Given the description of an element on the screen output the (x, y) to click on. 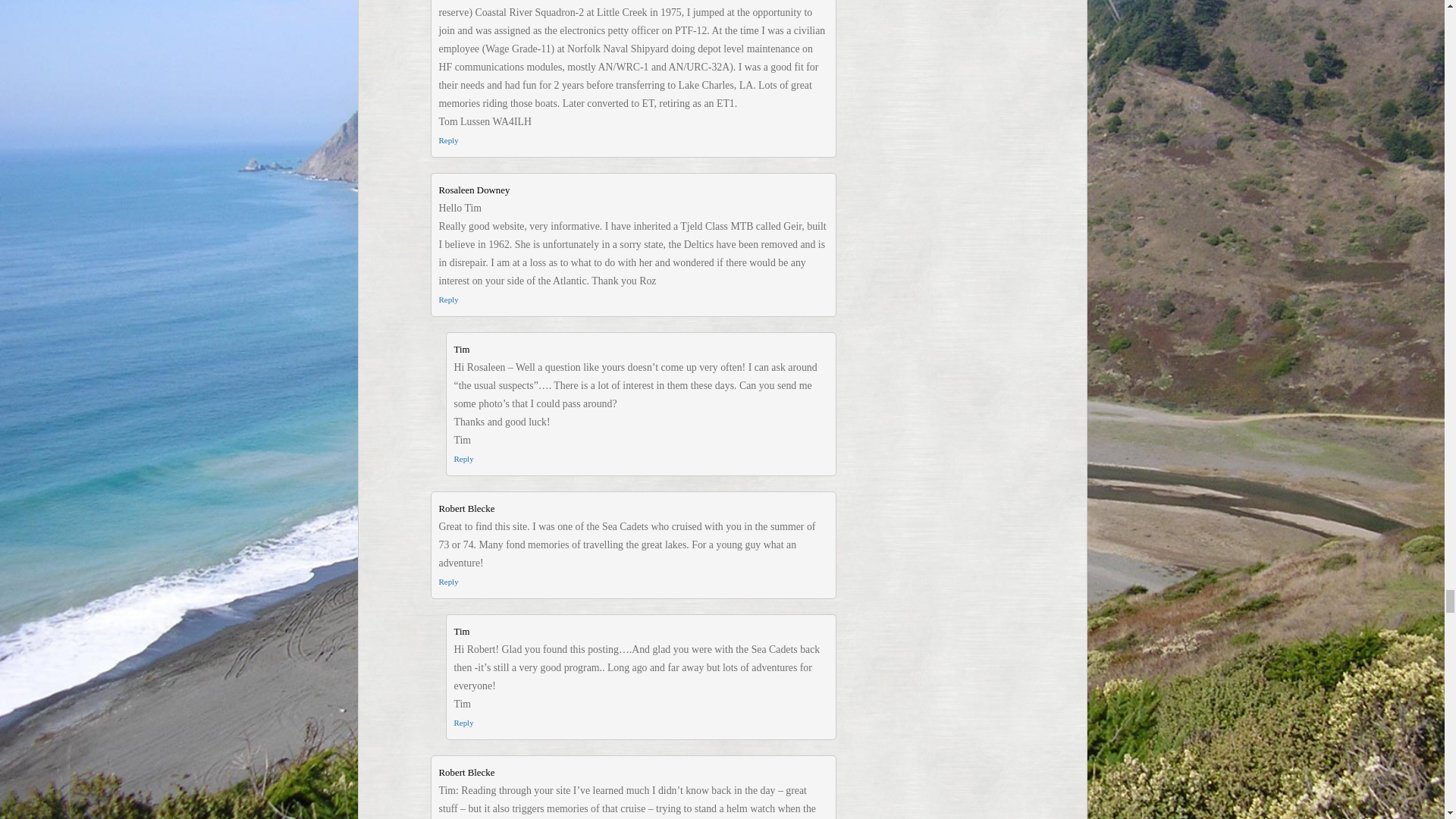
Reply (462, 458)
Reply (462, 722)
Reply (448, 581)
Reply (448, 139)
Reply (448, 298)
